Given the description of an element on the screen output the (x, y) to click on. 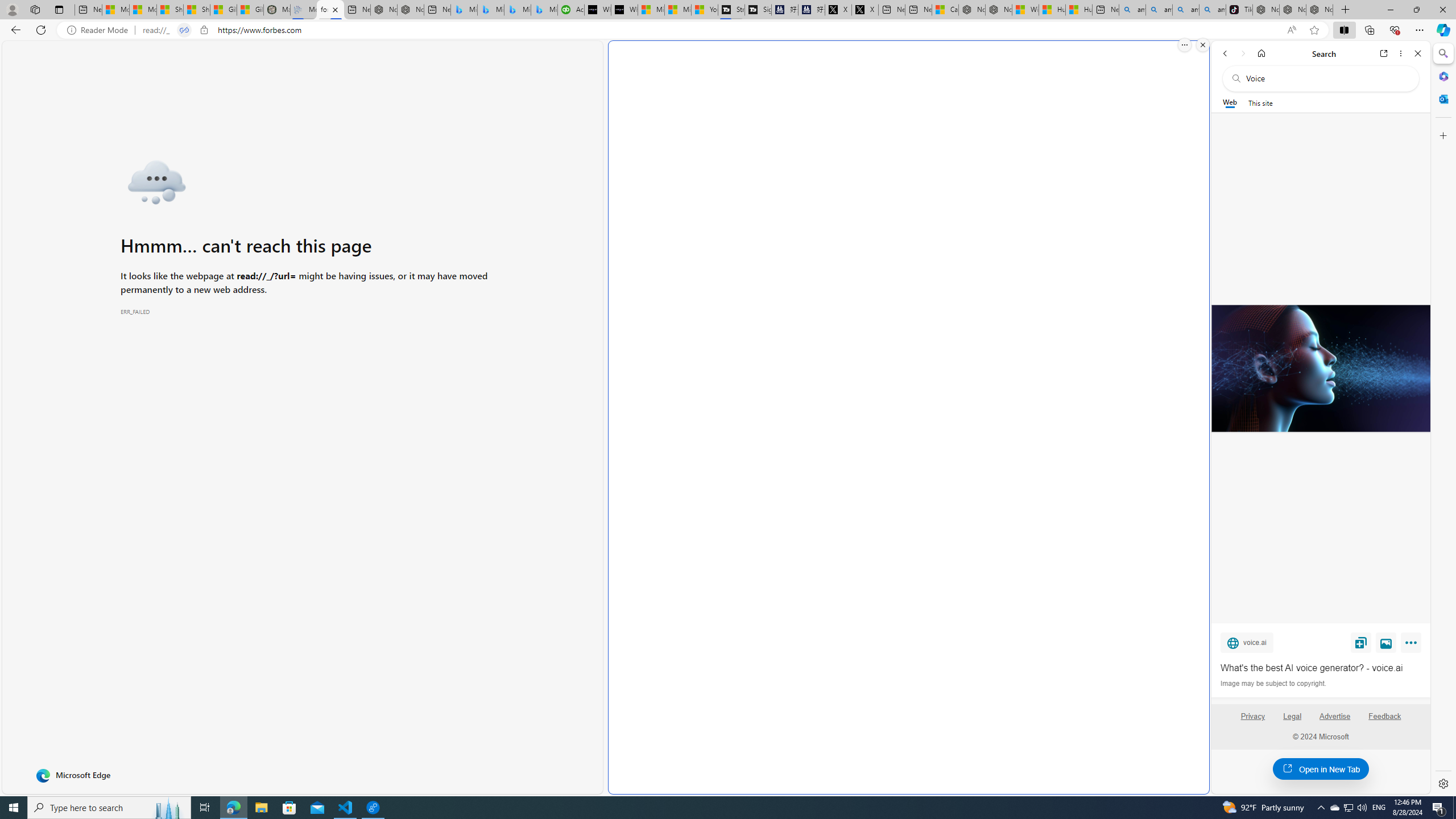
Settings (1442, 783)
Privacy (1252, 715)
Customize (1442, 135)
What's the best AI voice generator? - voice.ai (1320, 667)
Nordace Siena Pro 15 Backpack (1292, 9)
Search the web (1326, 78)
Microsoft Bing Travel - Shangri-La Hotel Bangkok (543, 9)
Gilma and Hector both pose tropical trouble for Hawaii (249, 9)
Advertise (1334, 720)
Nordace - Siena Pro 15 Essential Set (1319, 9)
